Given the description of an element on the screen output the (x, y) to click on. 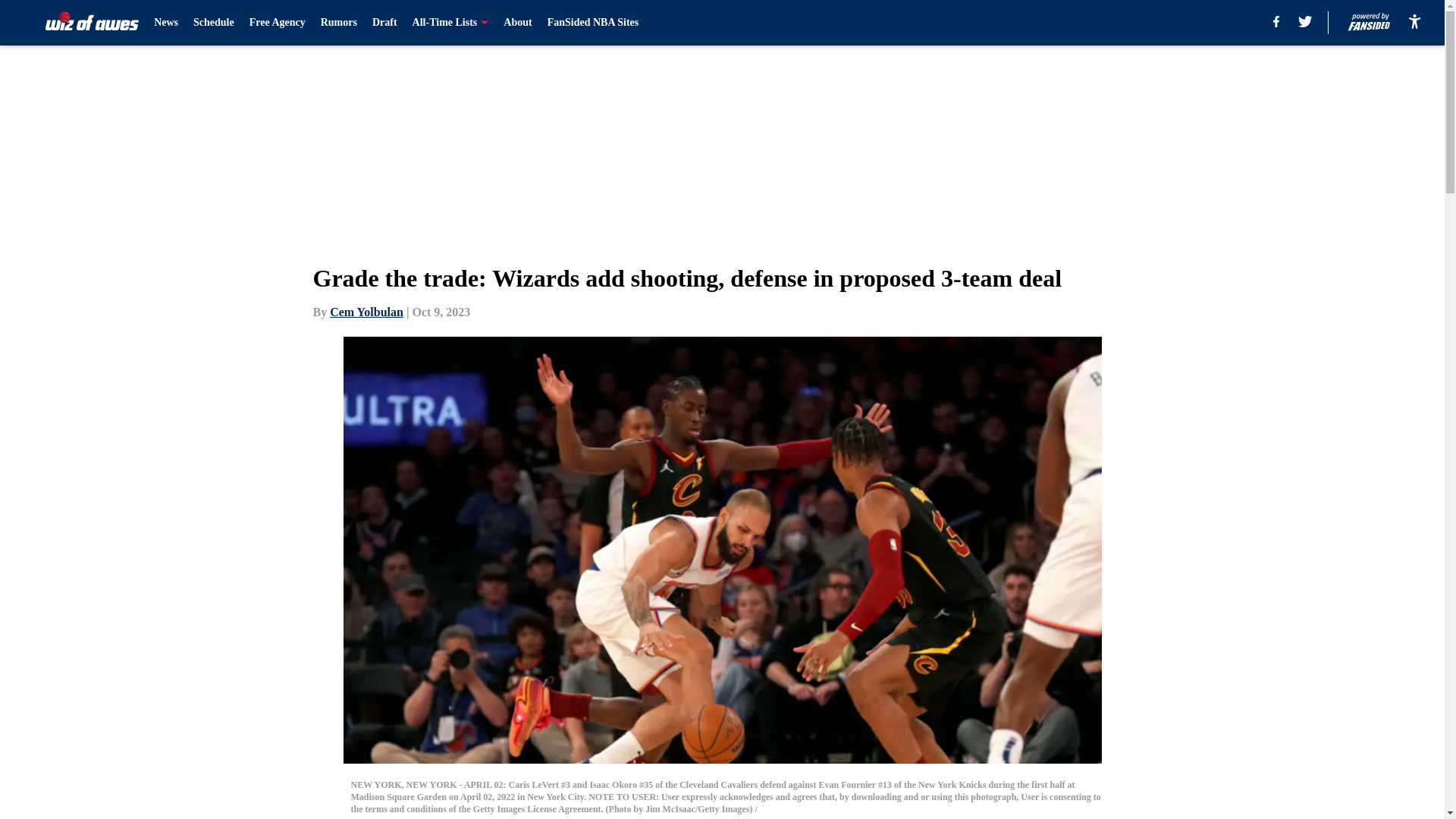
Cem Yolbulan (366, 311)
Draft (384, 22)
News (165, 22)
FanSided NBA Sites (593, 22)
About (517, 22)
Schedule (213, 22)
All-Time Lists (450, 22)
Free Agency (276, 22)
Rumors (338, 22)
